Given the description of an element on the screen output the (x, y) to click on. 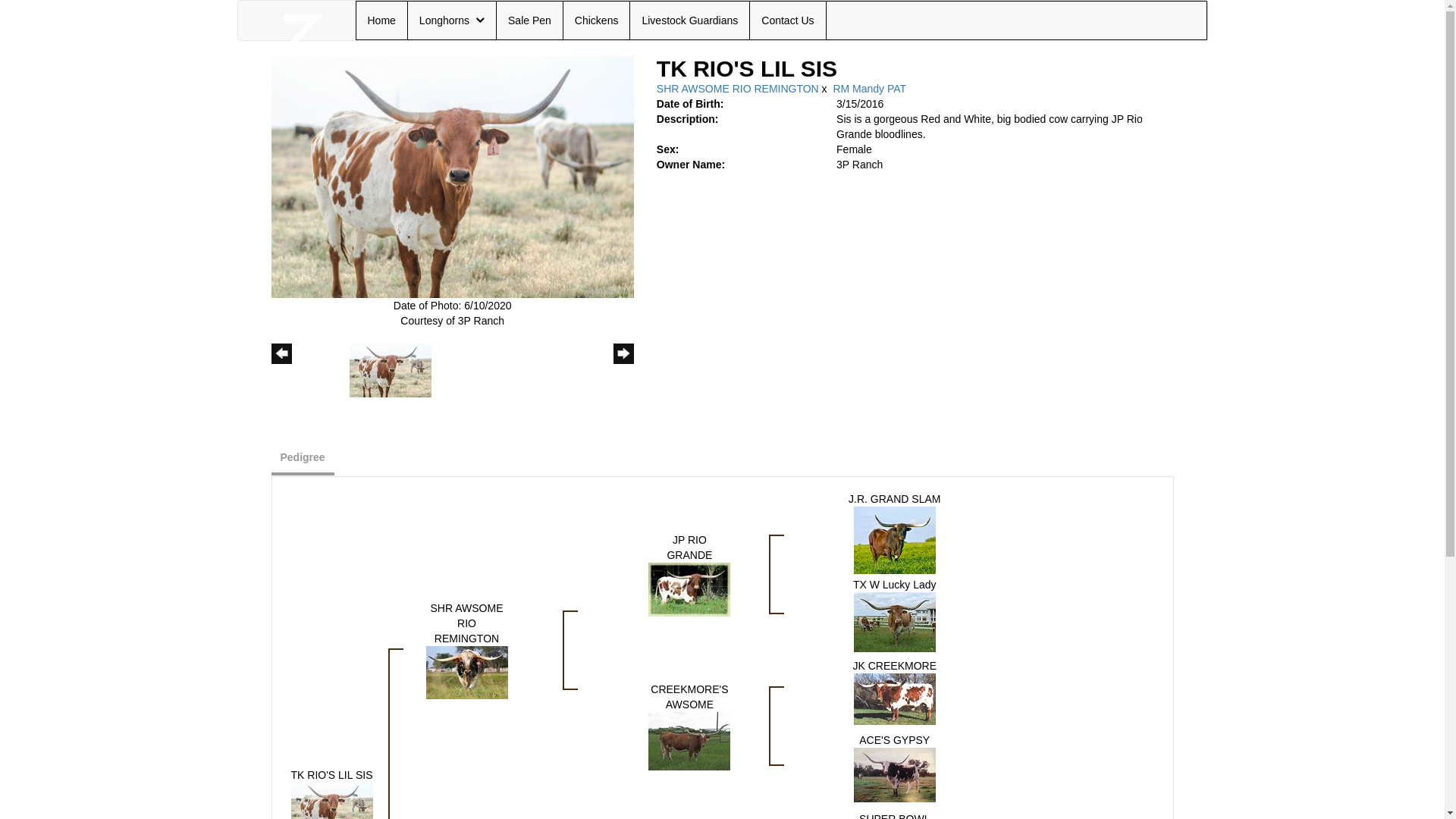
TX W Lucky Lady Element type: hover (894, 622)
JP RIO GRANDE Element type: hover (689, 589)
JP RIO GRANDE Element type: text (689, 547)
Livestock Guardians Element type: text (689, 20)
< Element type: text (281, 368)
JK CREEKMORE Element type: hover (894, 698)
Longhorns Element type: text (451, 20)
SHR AWSOME RIO REMINGTON Element type: hover (467, 672)
TX W Lucky Lady Element type: hover (894, 621)
ACE'S GYPSY Element type: hover (894, 774)
ACE'S GYPSY Element type: hover (894, 773)
CREEKMORE'S AWSOME Element type: text (689, 696)
TK RIO'S LIL SIS Element type: hover (332, 808)
Contact Us Element type: text (787, 20)
JK CREEKMORE Element type: text (894, 665)
J.R. GRAND SLAM Element type: text (894, 498)
Pedigree Element type: text (302, 457)
Home Element type: text (380, 20)
J.R. GRAND SLAM Element type: hover (894, 540)
CREEKMORE'S AWSOME Element type: hover (689, 740)
Sale Pen Element type: text (529, 20)
> Element type: text (623, 368)
Click to view large image Element type: hover (452, 175)
SHR AWSOME RIO REMINGTON Element type: text (737, 88)
SHR AWSOME RIO REMINGTON Element type: text (466, 623)
Chickens Element type: text (596, 20)
JK CREEKMORE Element type: hover (894, 697)
CREEKMORE'S AWSOME Element type: hover (689, 741)
RM Mandy PAT Element type: text (869, 88)
SHR AWSOME RIO REMINGTON Element type: hover (467, 671)
TX W Lucky Lady Element type: text (894, 584)
J.R. GRAND SLAM Element type: hover (894, 539)
JP RIO GRANDE Element type: hover (689, 588)
ACE'S GYPSY Element type: text (894, 740)
